Given the description of an element on the screen output the (x, y) to click on. 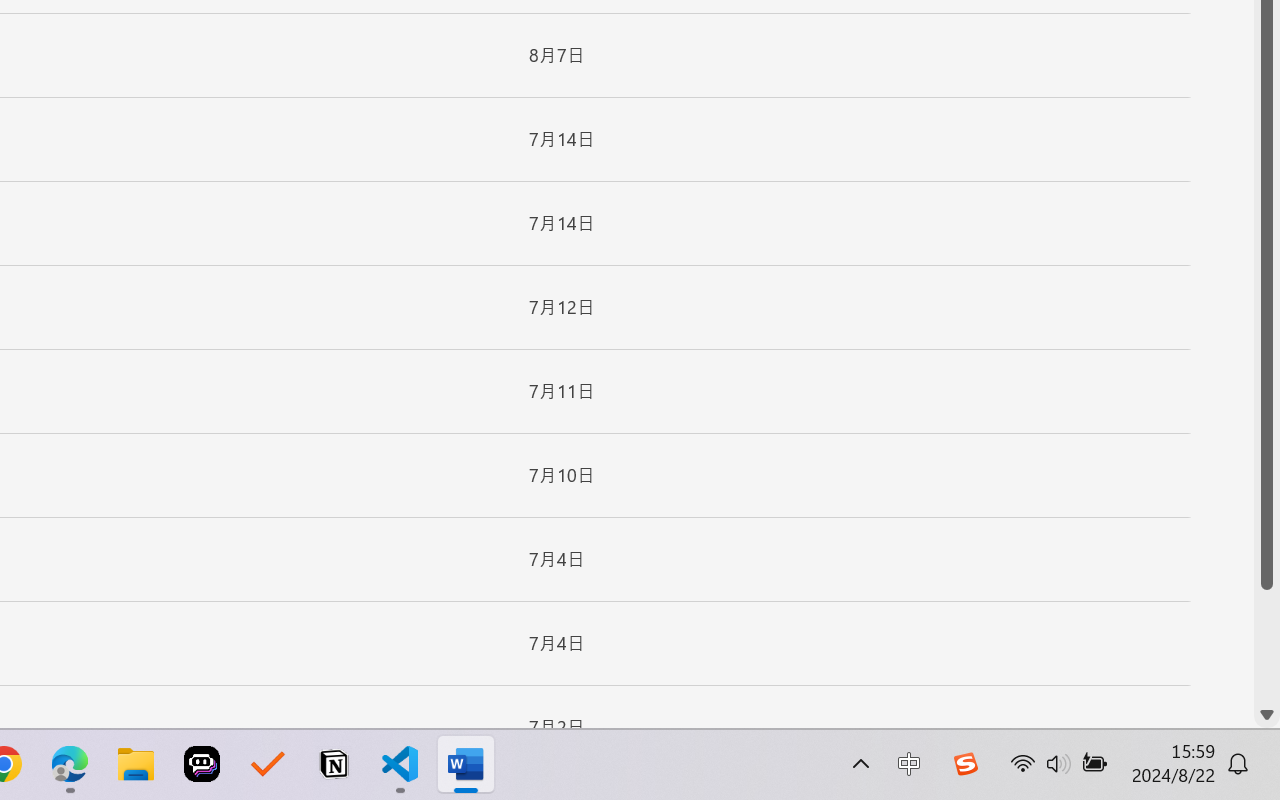
Pin this item to the list (480, 727)
Page down (1267, 646)
Class: Image (965, 764)
Line down (1267, 715)
